Given the description of an element on the screen output the (x, y) to click on. 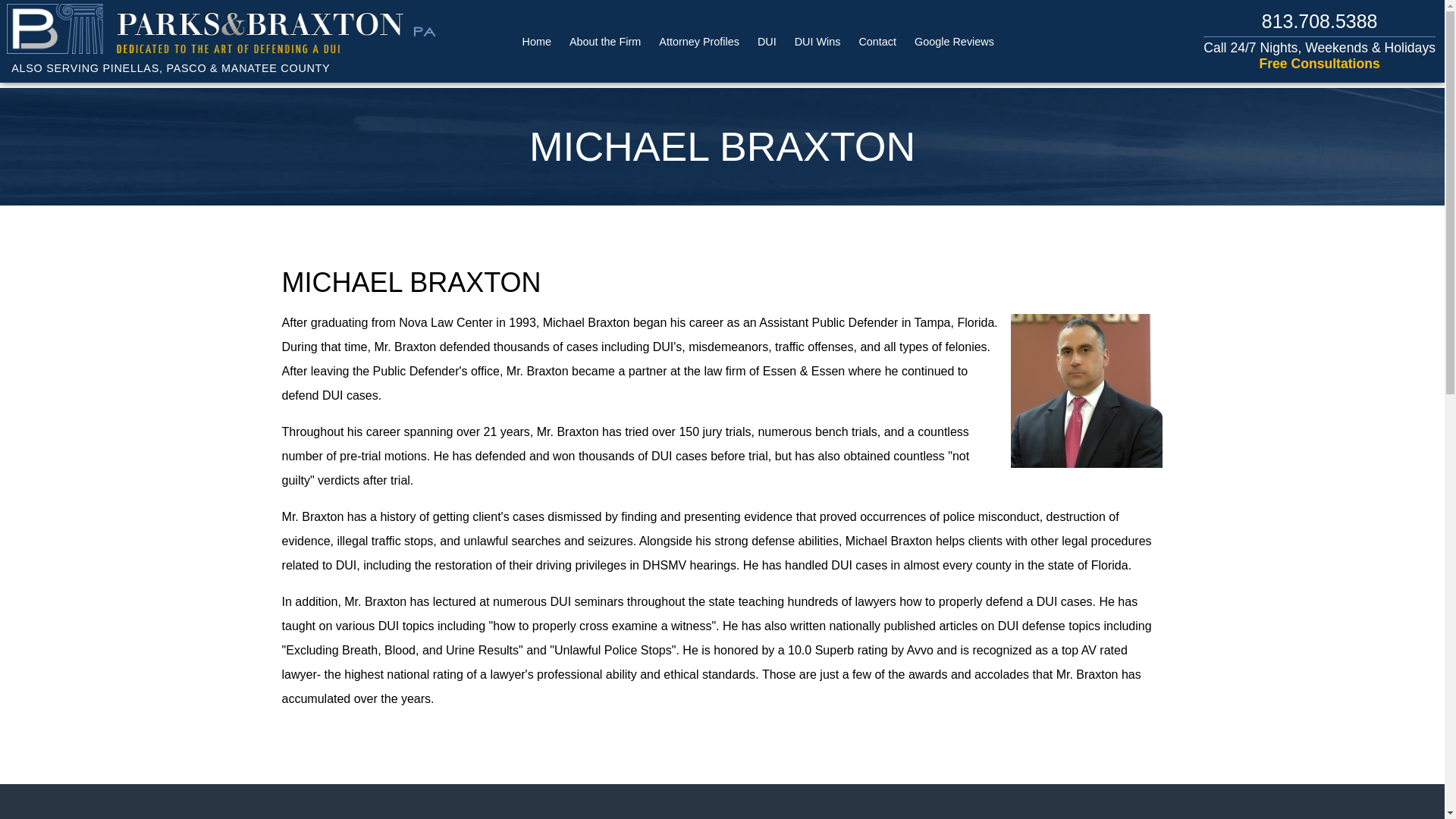
Attorney Profiles (699, 41)
Home (536, 41)
813.708.5388 (1319, 20)
Google Reviews (954, 41)
DUI Wins (817, 41)
About the Firm (604, 41)
Contact (877, 41)
